Given the description of an element on the screen output the (x, y) to click on. 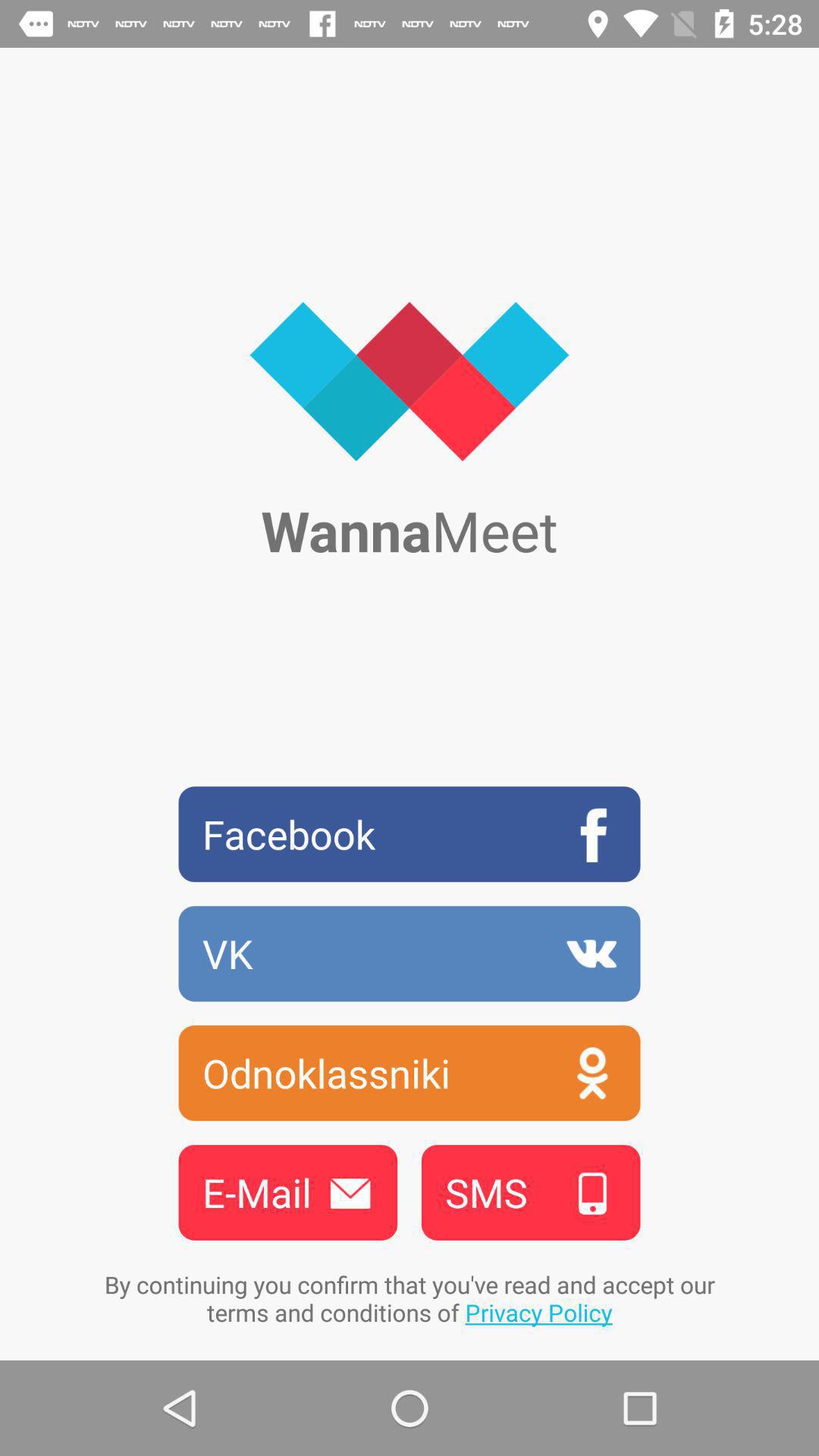
tap the item below wannameet icon (409, 834)
